Given the description of an element on the screen output the (x, y) to click on. 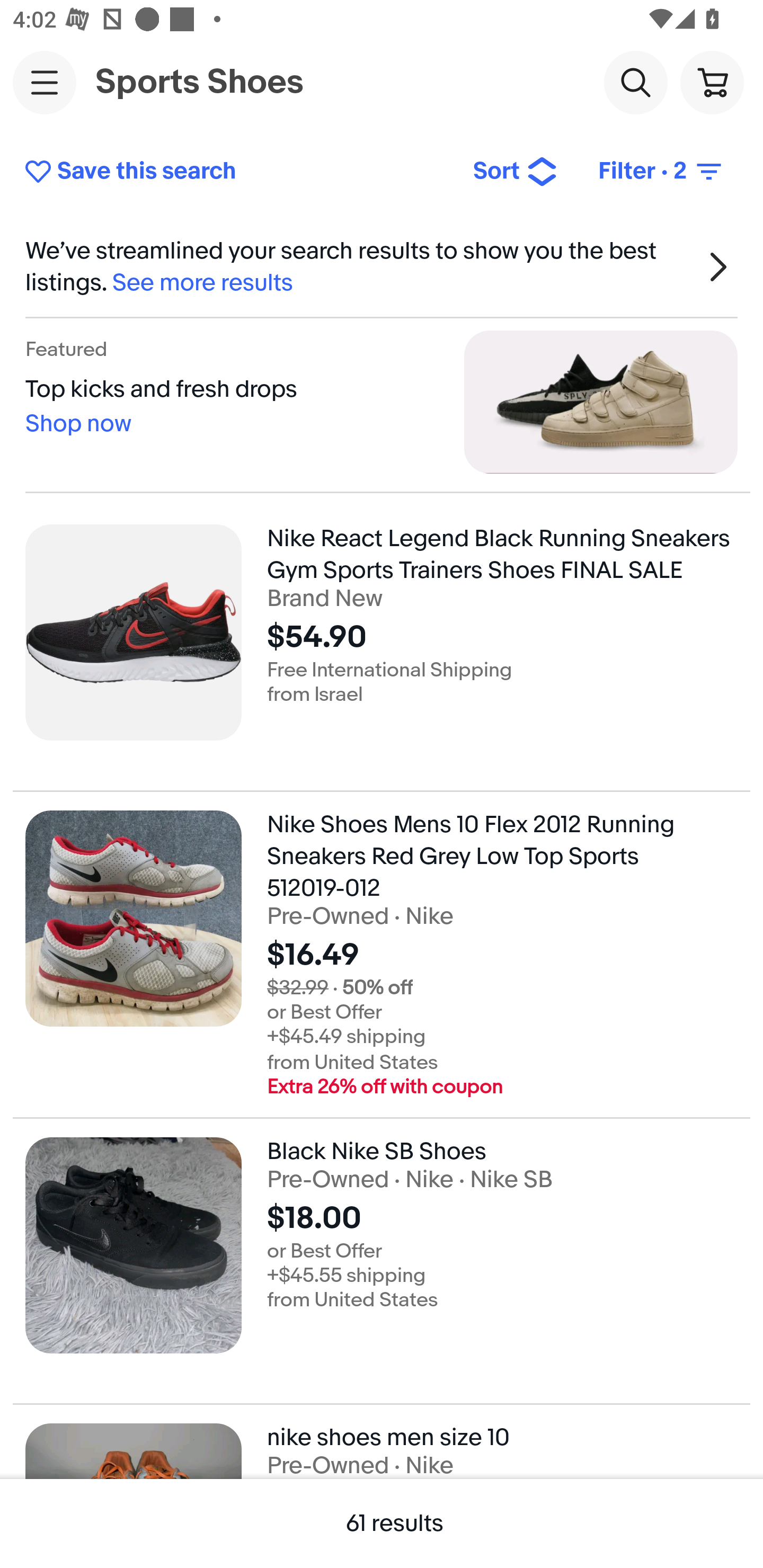
Main navigation, open (44, 82)
Search (635, 81)
Cart button shopping cart (711, 81)
Save this search (235, 171)
Sort (515, 171)
Filter • 2 Filter (2 applied) (661, 171)
Featured Top kicks and fresh drops Shop now (381, 401)
